Given the description of an element on the screen output the (x, y) to click on. 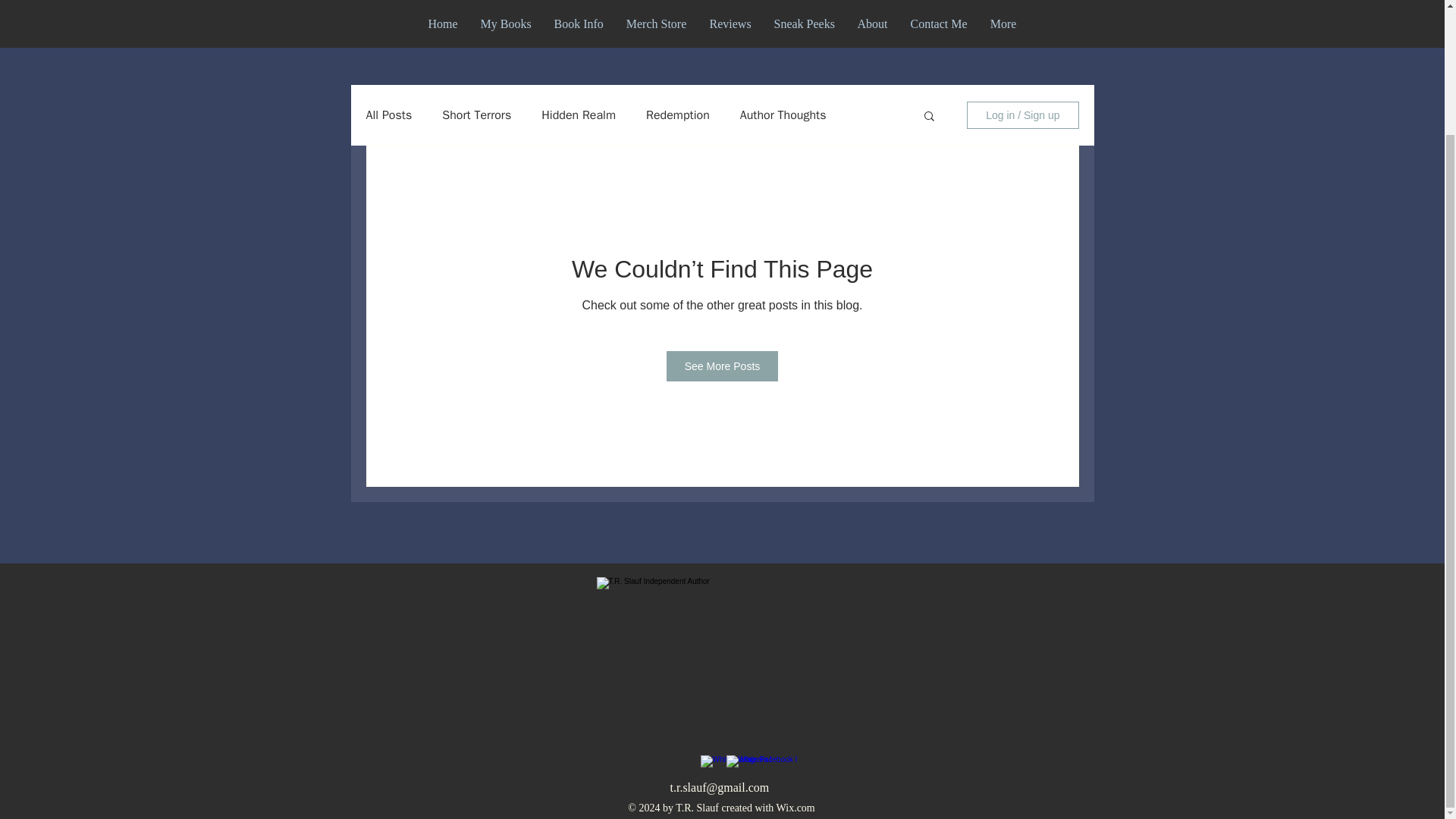
Redemption (678, 114)
All Posts (388, 114)
Wix.com (795, 808)
Author Thoughts (783, 114)
Hidden Realm (578, 114)
Short Terrors (476, 114)
See More Posts (722, 366)
